Given the description of an element on the screen output the (x, y) to click on. 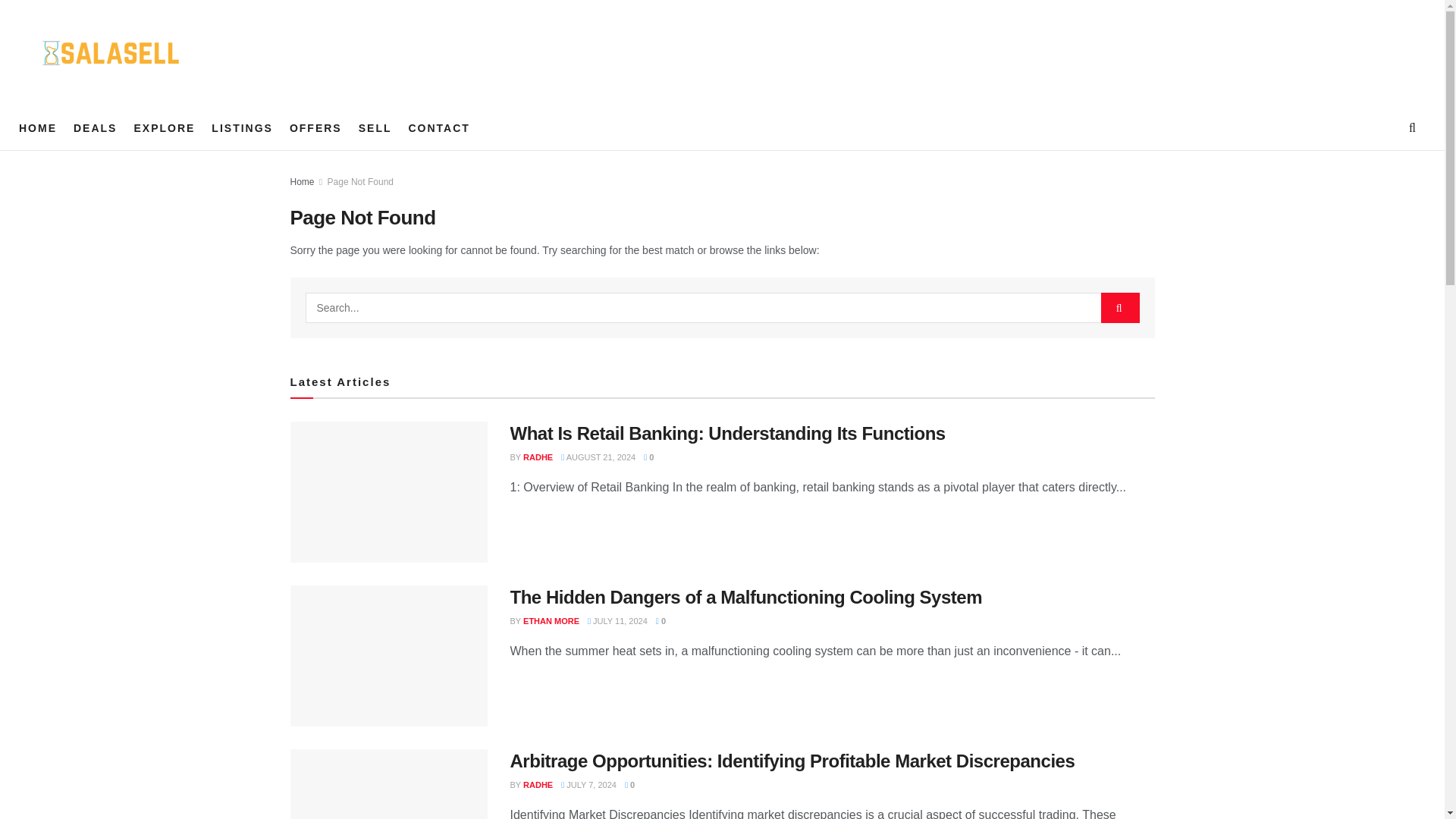
EXPLORE (164, 127)
RADHE (537, 456)
RADHE (537, 784)
0 (648, 456)
Page Not Found (360, 181)
DEALS (95, 127)
The Hidden Dangers of a Malfunctioning Cooling System (745, 597)
Home (301, 181)
AUGUST 21, 2024 (597, 456)
CONTACT (437, 127)
